Given the description of an element on the screen output the (x, y) to click on. 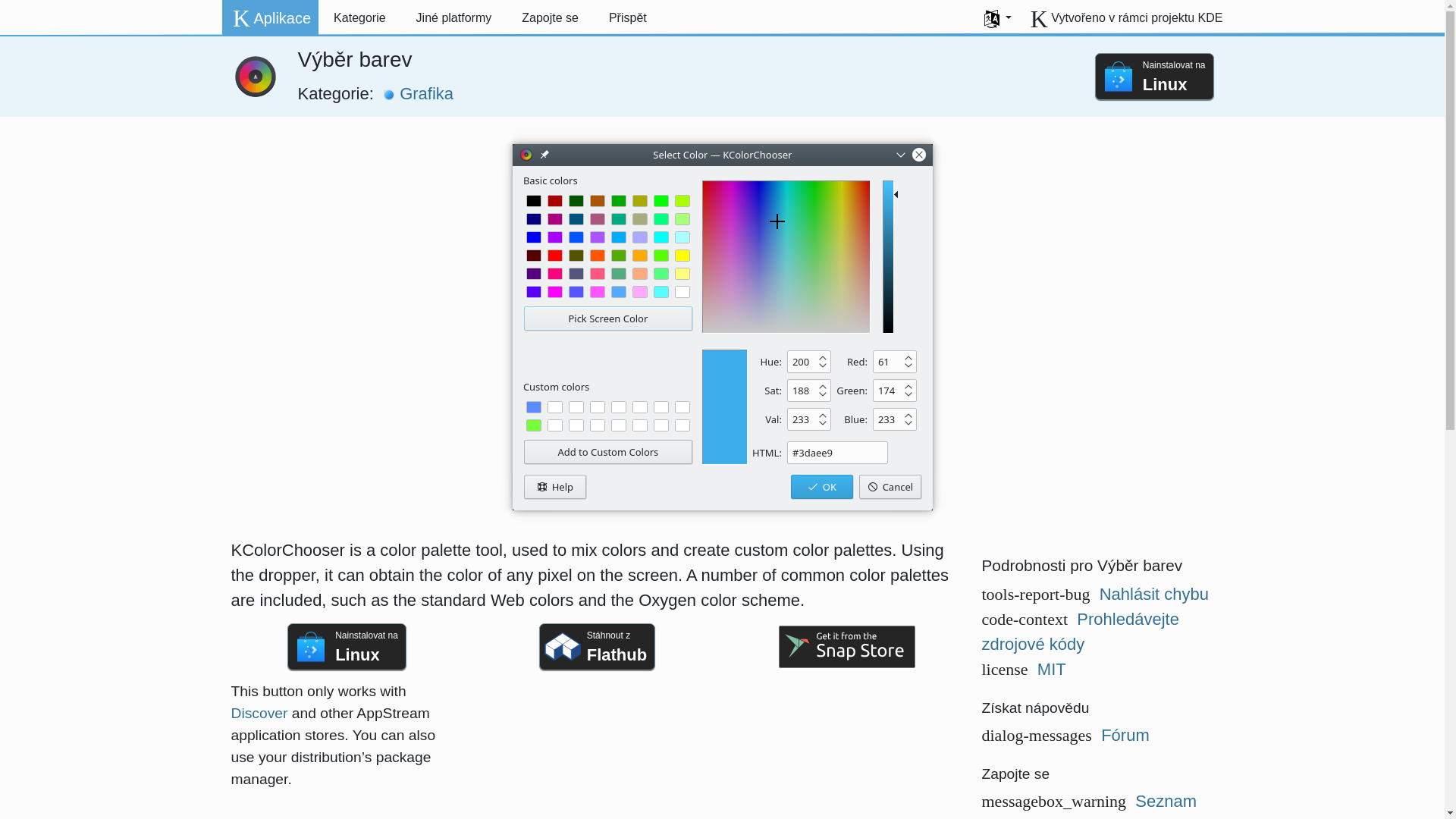
Kategorie (359, 18)
Zapojte se (550, 18)
